Given the description of an element on the screen output the (x, y) to click on. 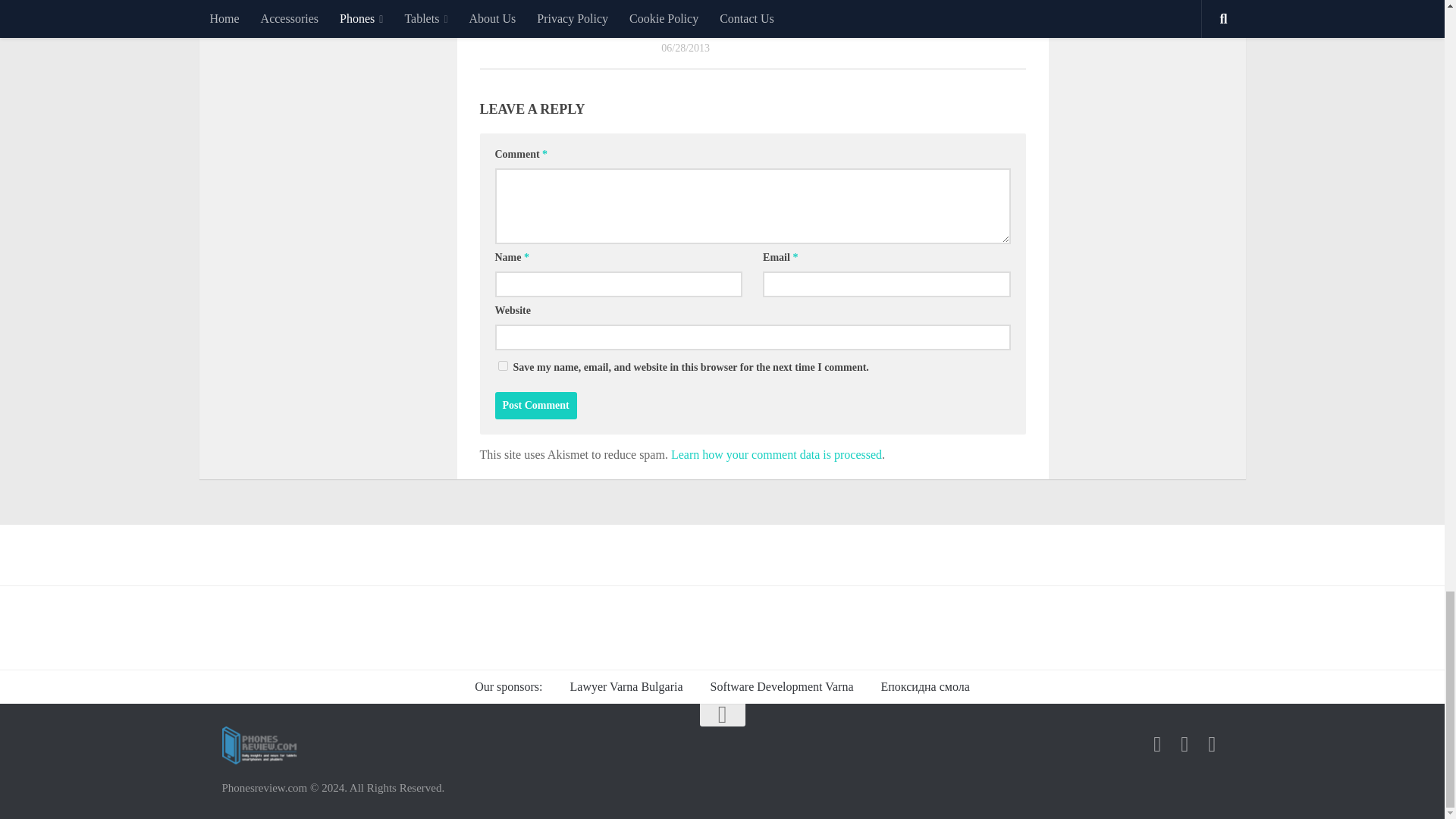
Follow us on Linkedin (1212, 744)
Post Comment (535, 405)
yes (501, 366)
Follow us on Twitter (1184, 744)
Follow us on Facebook (1157, 744)
